Given the description of an element on the screen output the (x, y) to click on. 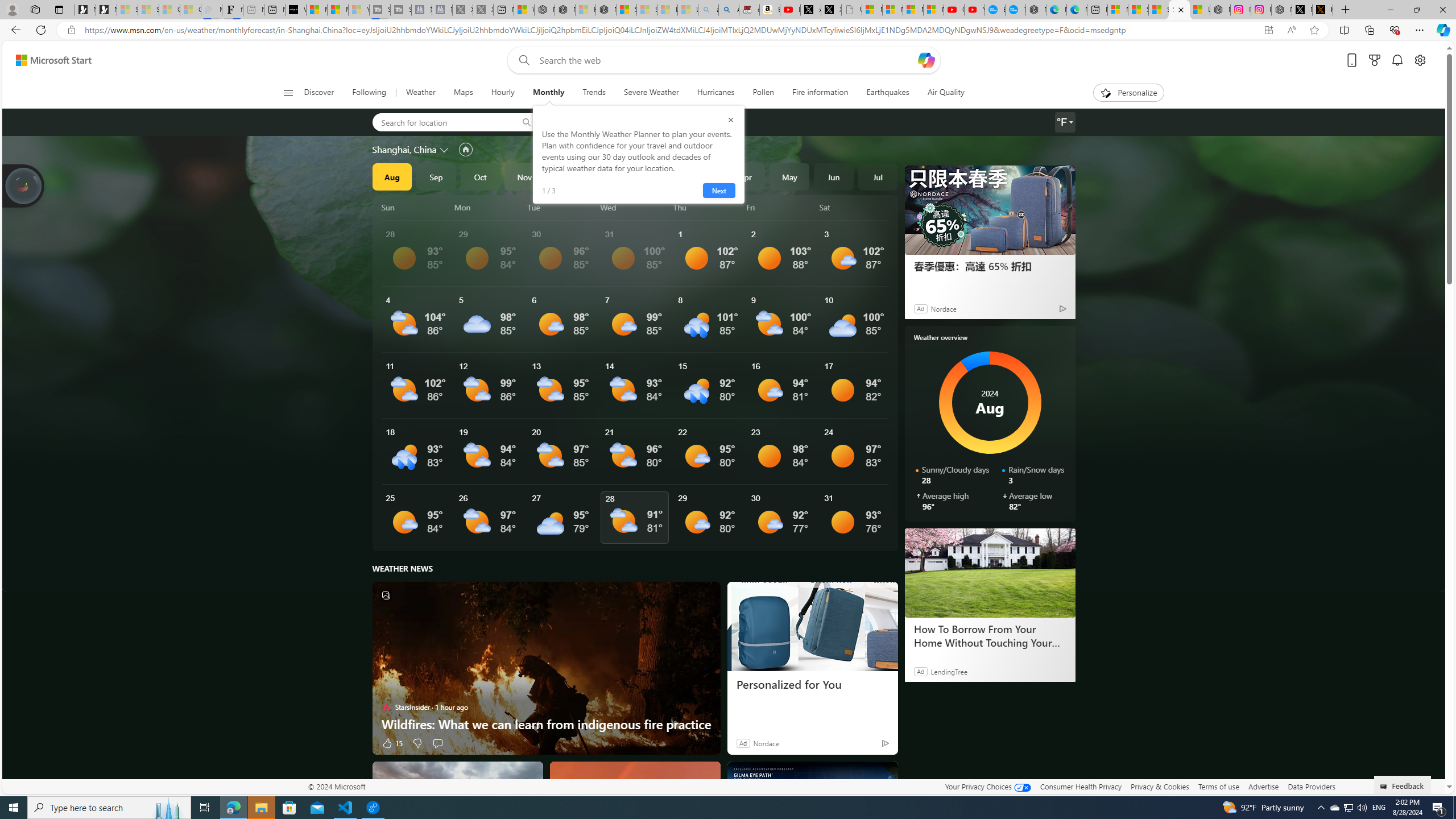
Aug (391, 176)
Feb (657, 176)
Nordace - Nordace has arrived Hong Kong (1035, 9)
amazon - Search - Sleeping (708, 9)
How To Borrow From Your Home Without Touching Your Mortgage (989, 572)
How To Borrow From Your Home Without Touching Your Mortgage (988, 635)
Nordace (@NordaceOfficial) / X (1302, 9)
Maps (462, 92)
